Given the description of an element on the screen output the (x, y) to click on. 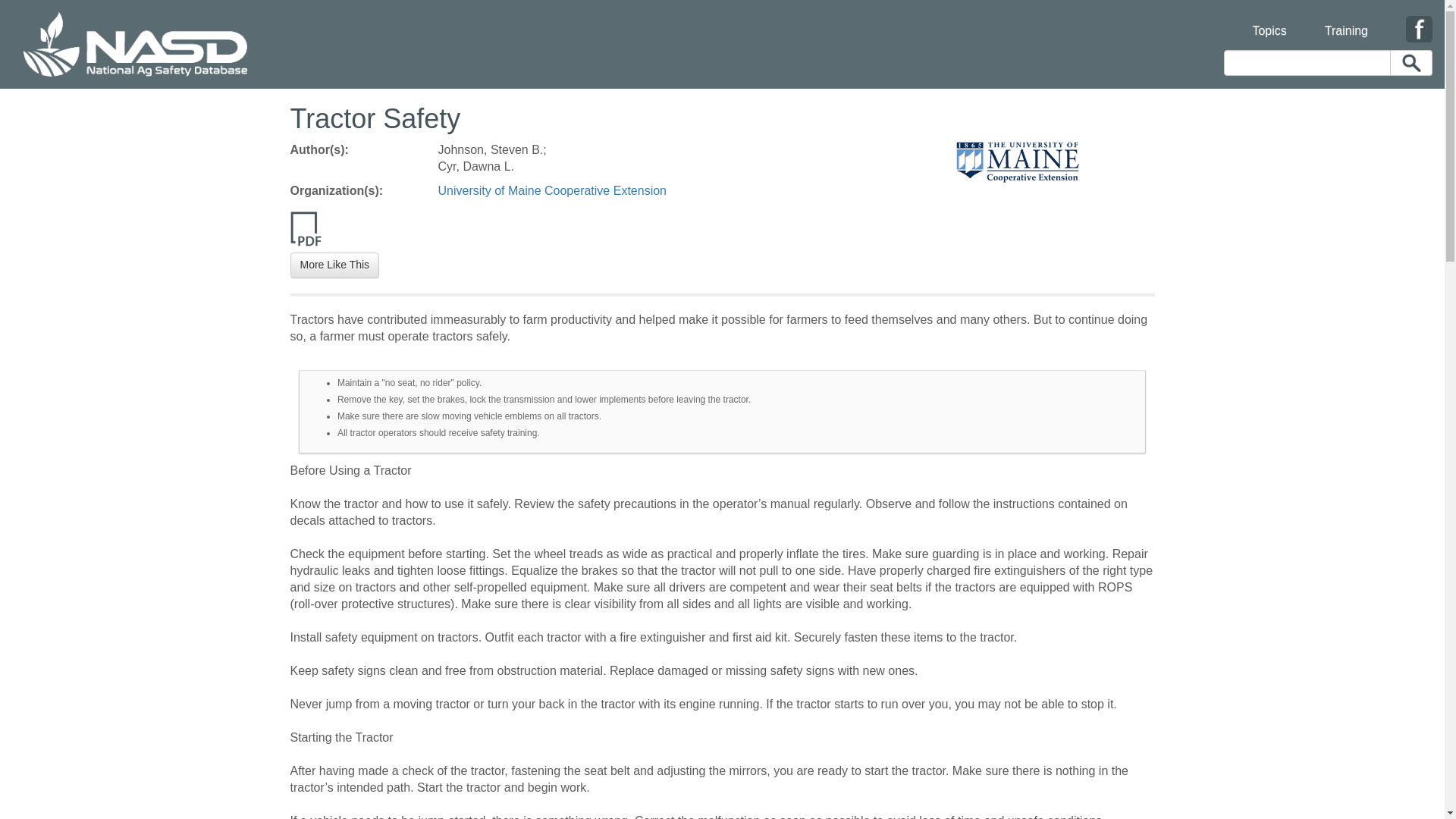
Training (1346, 21)
More Like This (333, 265)
Topics (1268, 21)
University of Maine Cooperative Extension (552, 190)
